Given the description of an element on the screen output the (x, y) to click on. 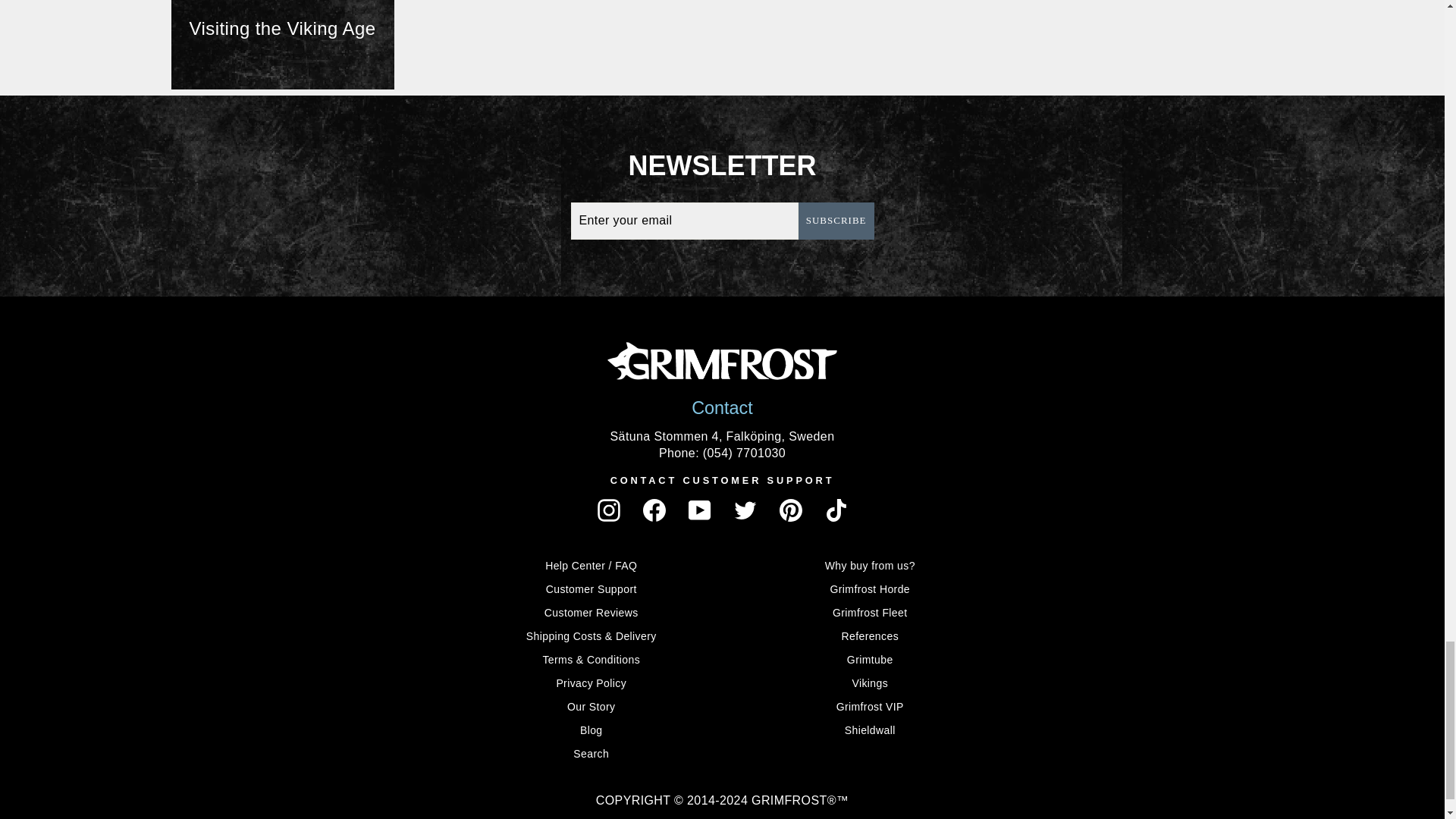
Show articles tagged Visiting the Viking Age (282, 44)
Grimfrost on Twitter (745, 509)
Grimfrost on TikTok (836, 509)
Grimfrost on YouTube (699, 509)
Grimfrost on Pinterest (790, 509)
Grimfrost on Instagram (608, 509)
Grimfrost on Facebook (654, 509)
